Given the description of an element on the screen output the (x, y) to click on. 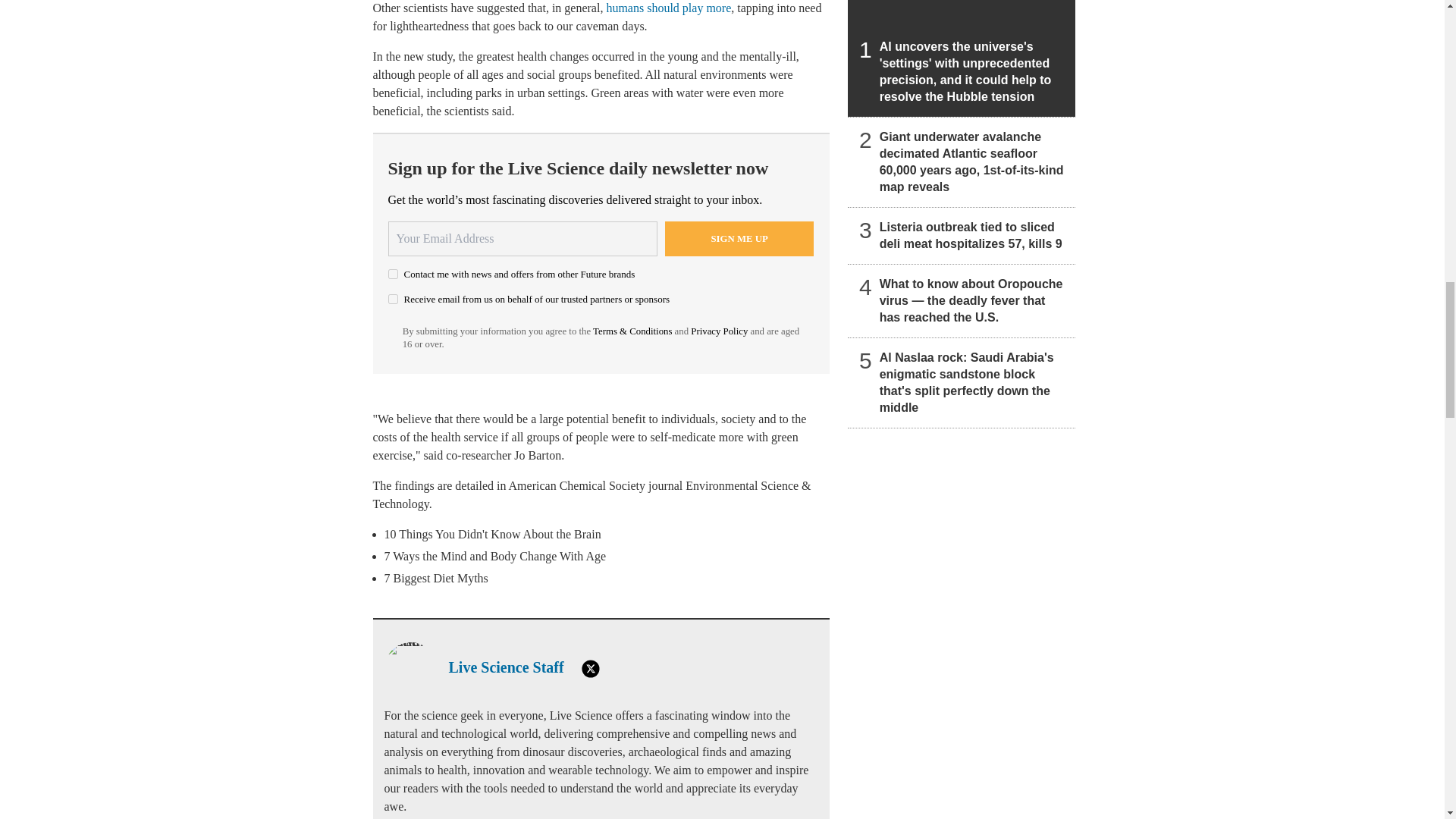
on (392, 274)
on (392, 298)
Sign me up (739, 238)
